Given the description of an element on the screen output the (x, y) to click on. 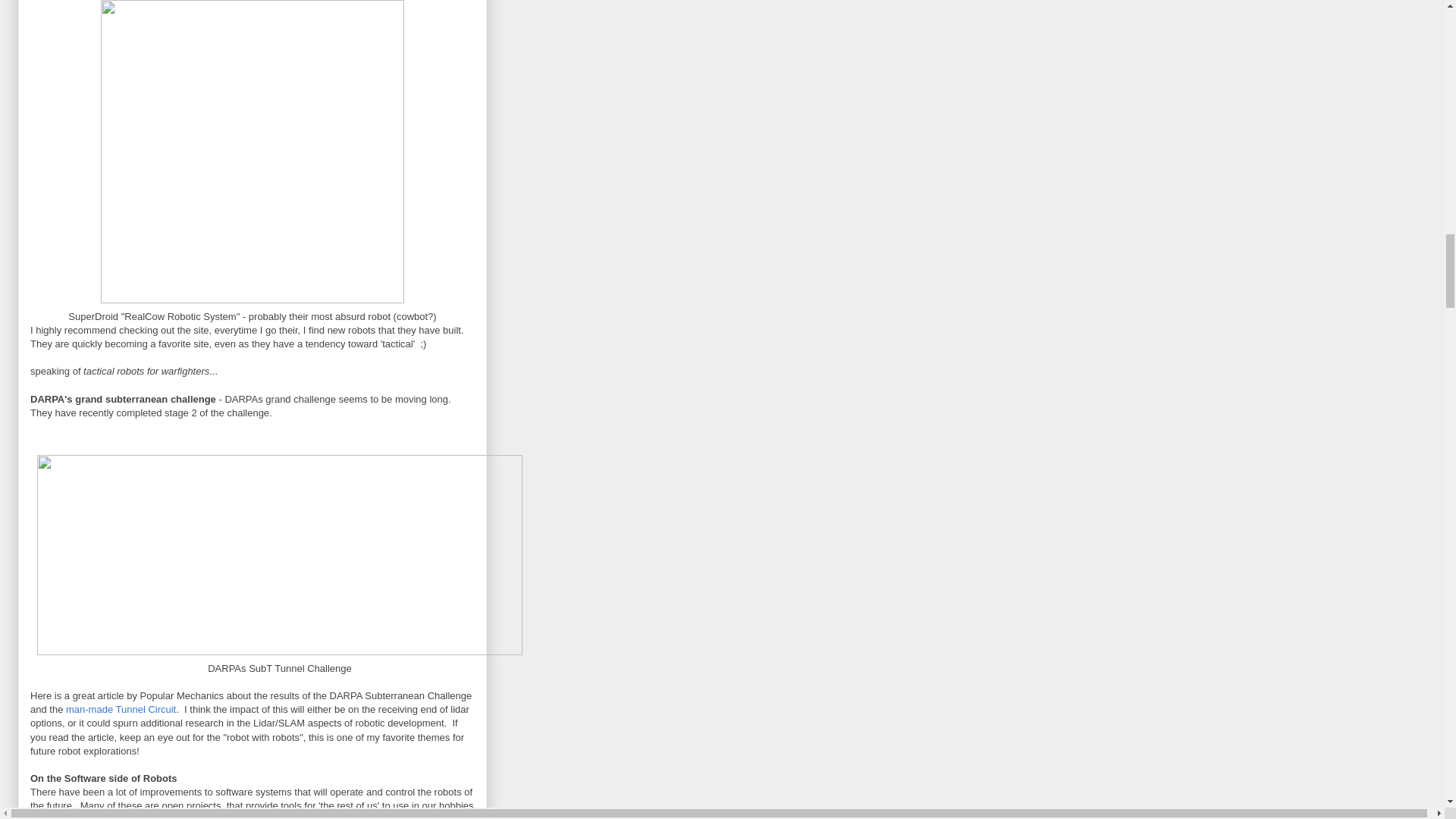
man-made Tunnel Circuit (120, 708)
